Given the description of an element on the screen output the (x, y) to click on. 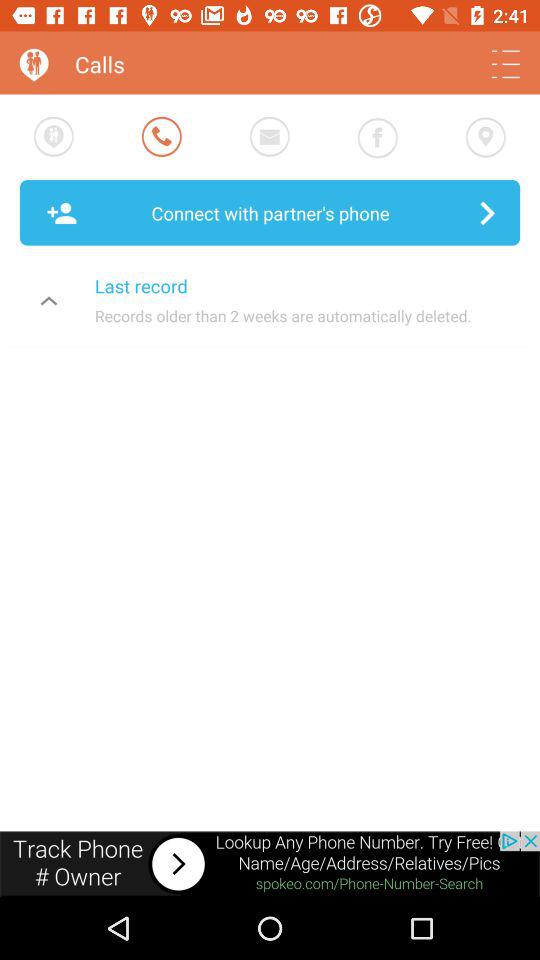
visit advertiser (270, 864)
